Given the description of an element on the screen output the (x, y) to click on. 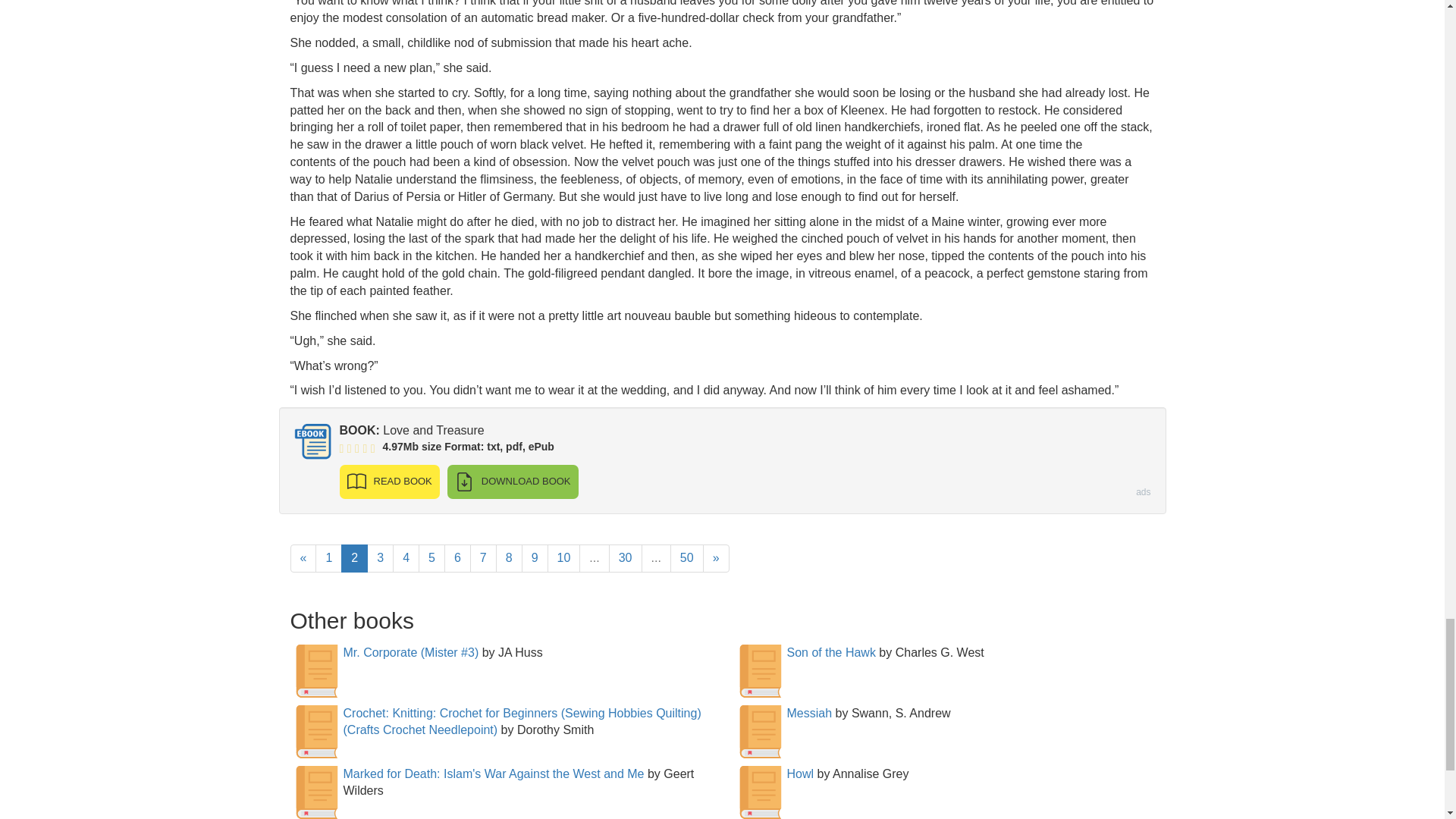
8 (509, 558)
6 (457, 558)
1 (328, 558)
5 (432, 558)
50 (686, 558)
Son of the Hawk (831, 652)
9 (534, 558)
3 (379, 558)
2 (354, 558)
READ BOOK (389, 481)
4 (406, 558)
30 (625, 558)
7 (483, 558)
10 (563, 558)
DOWNLOAD BOOK (512, 481)
